Given the description of an element on the screen output the (x, y) to click on. 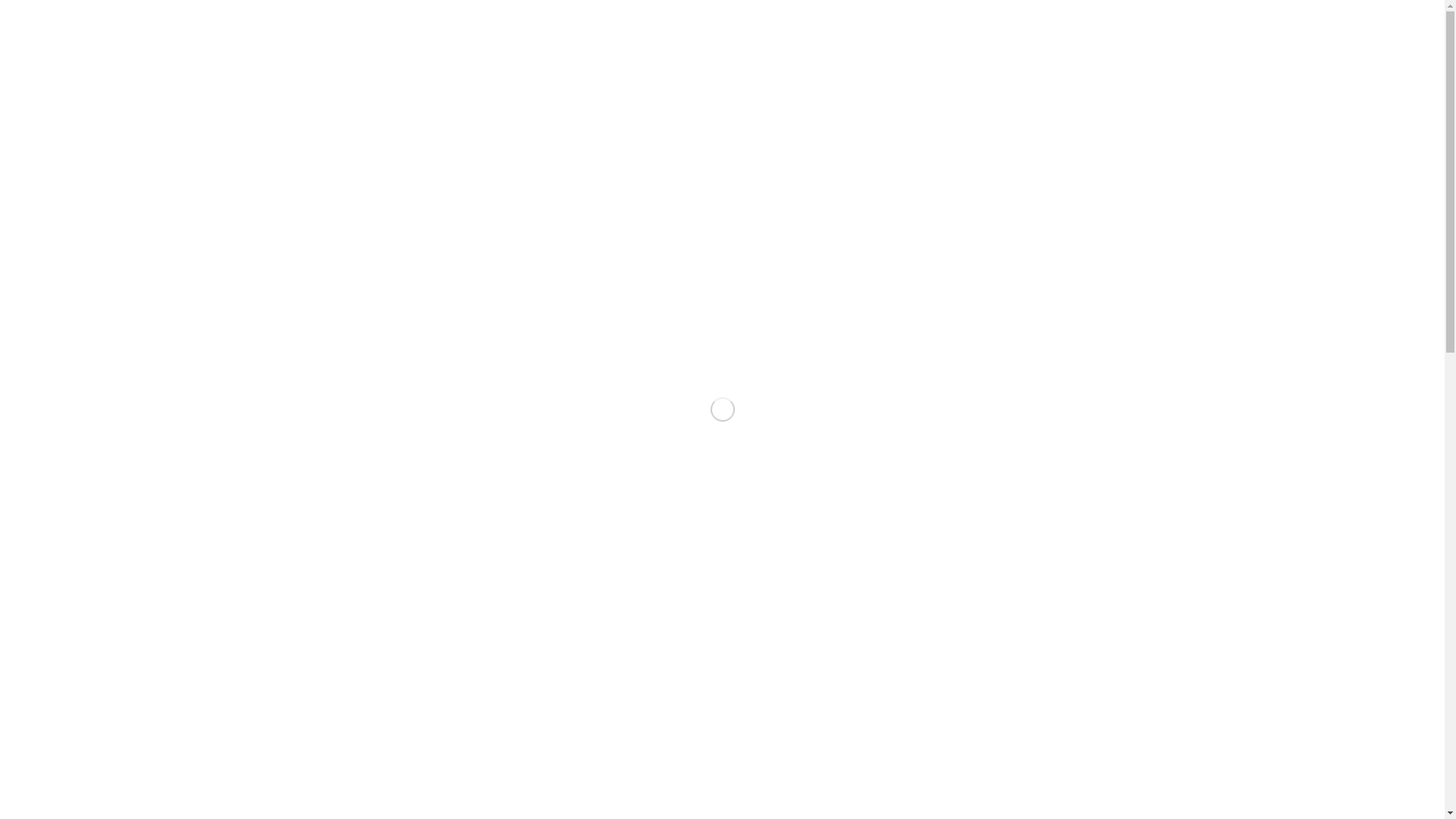
BASE Element type: hover (1269, 29)
